Given the description of an element on the screen output the (x, y) to click on. 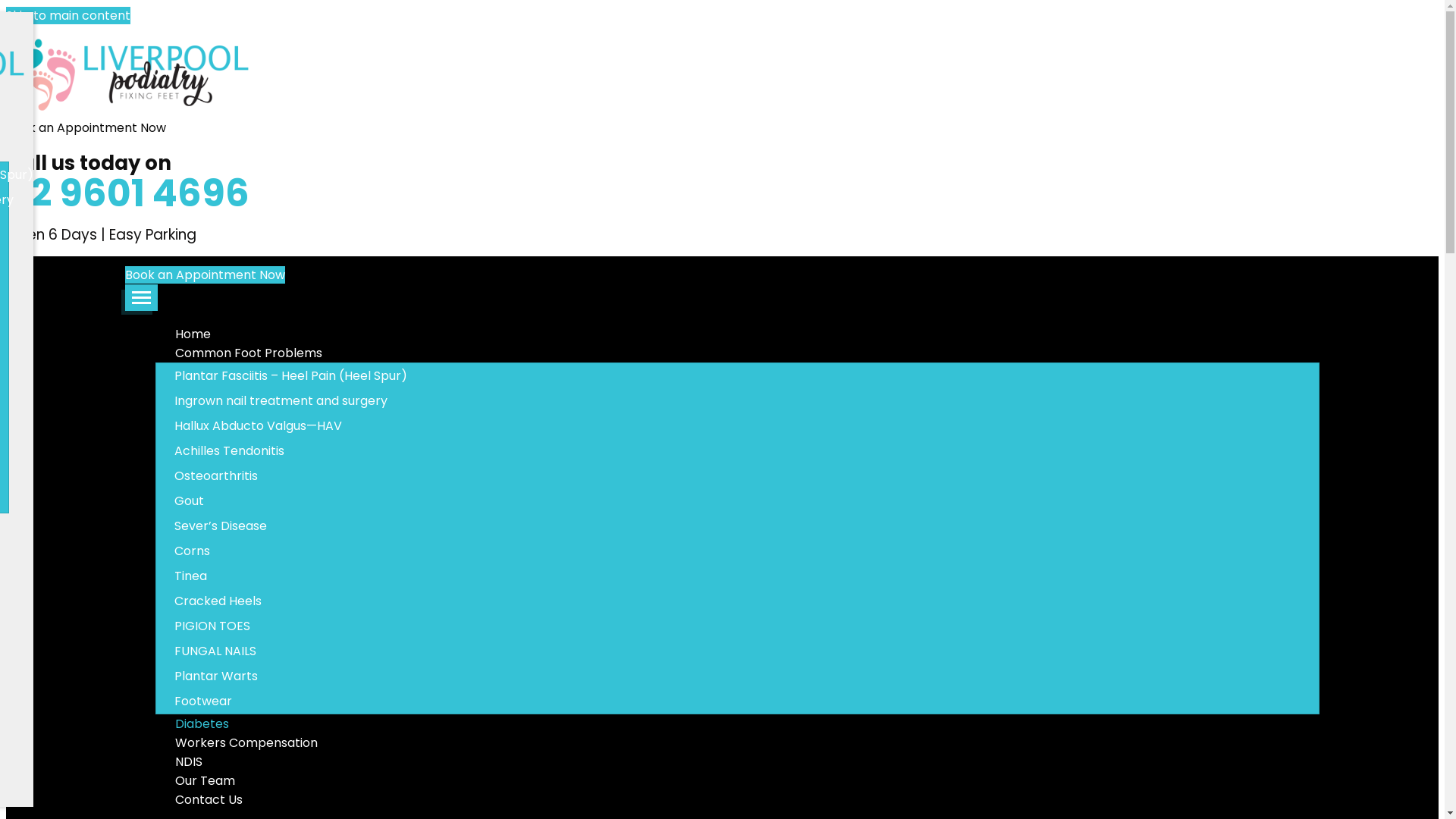
Footwear Element type: text (755, 700)
02 9601 4696 Element type: text (127, 193)
Osteoarthritis Element type: text (755, 475)
Diabetes Element type: text (201, 723)
Common Foot Problems Element type: text (248, 352)
Diabetes Element type: text (280, 265)
NDIS Element type: text (188, 761)
Tinea Element type: text (755, 575)
Our Team Element type: text (204, 780)
Home Element type: text (192, 333)
Skip to main content Element type: text (68, 15)
Gout Element type: text (755, 500)
Corns Element type: text (755, 550)
Ingrown nail treatment and surgery Element type: text (755, 400)
FUNGAL NAILS Element type: text (755, 650)
PIGION TOES Element type: text (755, 625)
Cracked Heels Element type: text (755, 600)
Book an Appointment Now Element type: text (205, 274)
Contact Us Element type: text (208, 799)
Book an Appointment Now Element type: text (86, 127)
Workers Compensation Element type: text (245, 742)
Plantar Warts Element type: text (755, 675)
Achilles Tendonitis Element type: text (755, 450)
